Given the description of an element on the screen output the (x, y) to click on. 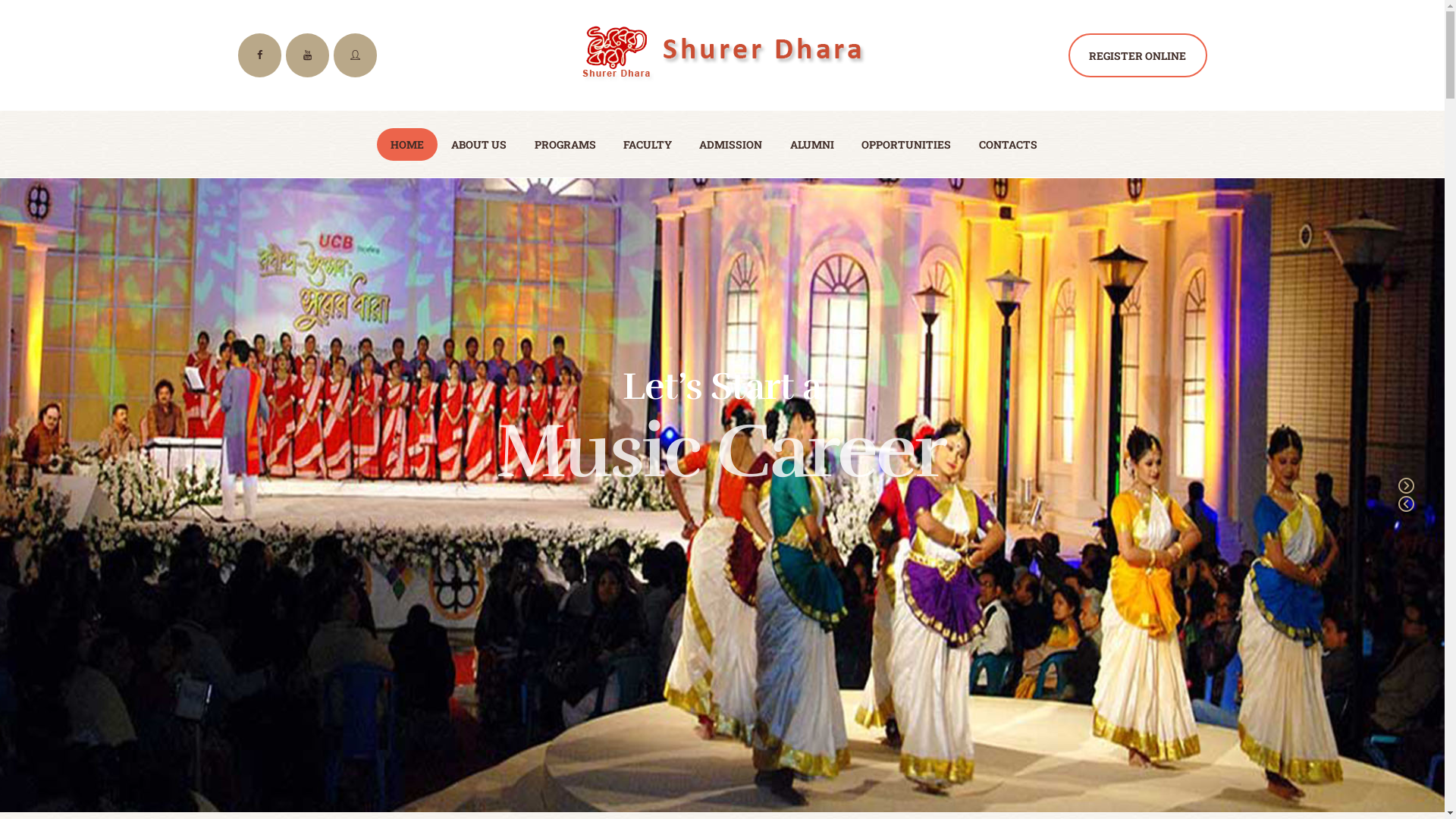
REGISTER ONLINE Element type: text (1137, 54)
ABOUT US Element type: text (478, 144)
PROGRAMS Element type: text (564, 144)
ADMISSION Element type: text (730, 144)
FACULTY Element type: text (647, 144)
HOME Element type: text (406, 144)
ALUMNI Element type: text (811, 144)
CONTACTS Element type: text (1007, 144)
OPPORTUNITIES Element type: text (905, 144)
